Given the description of an element on the screen output the (x, y) to click on. 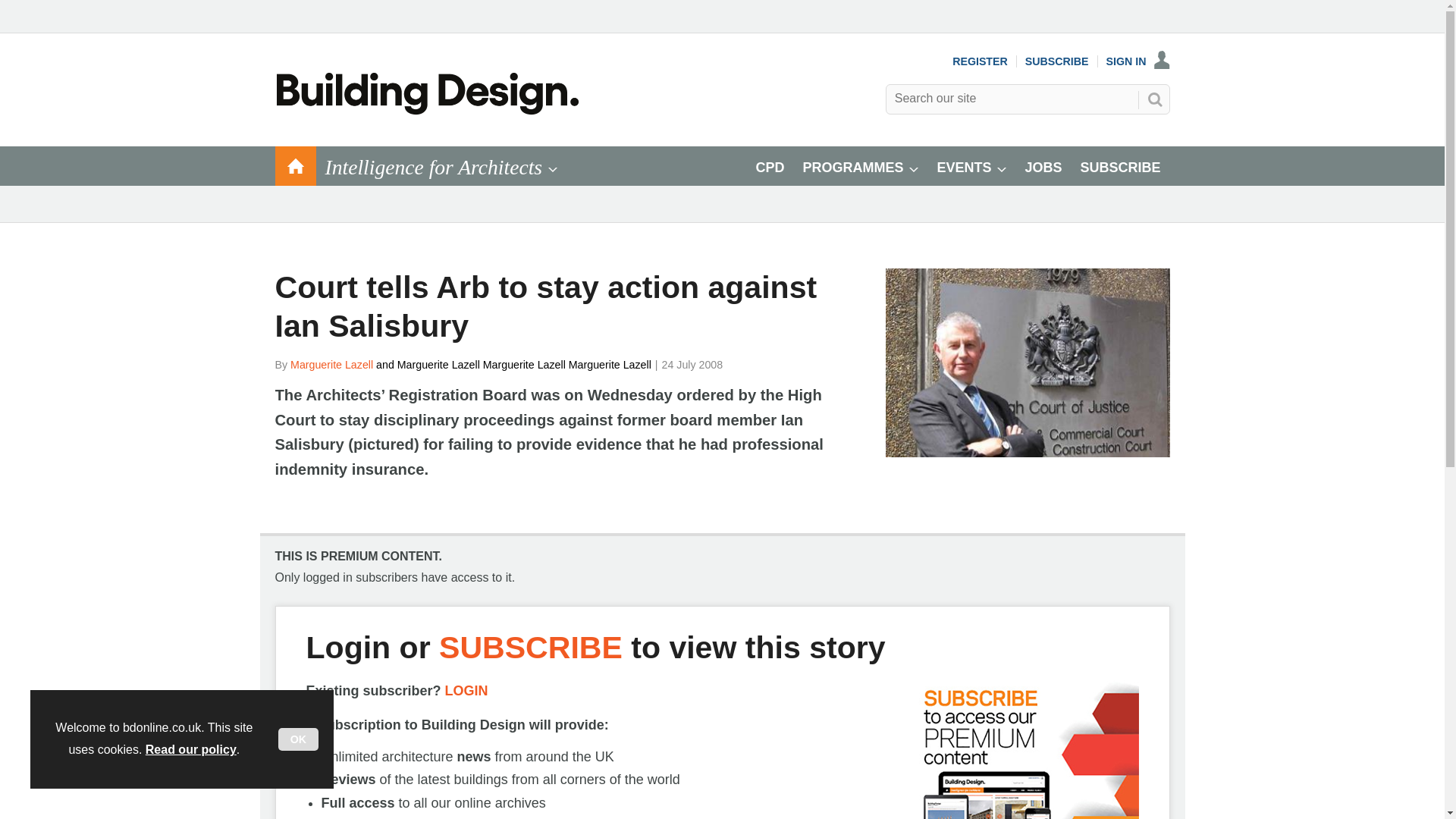
OK (298, 739)
SIGN IN (1138, 250)
REGISTER (979, 250)
SUBSCRIBE (1057, 250)
SEARCH (1153, 288)
Read our policy (190, 748)
